Given the description of an element on the screen output the (x, y) to click on. 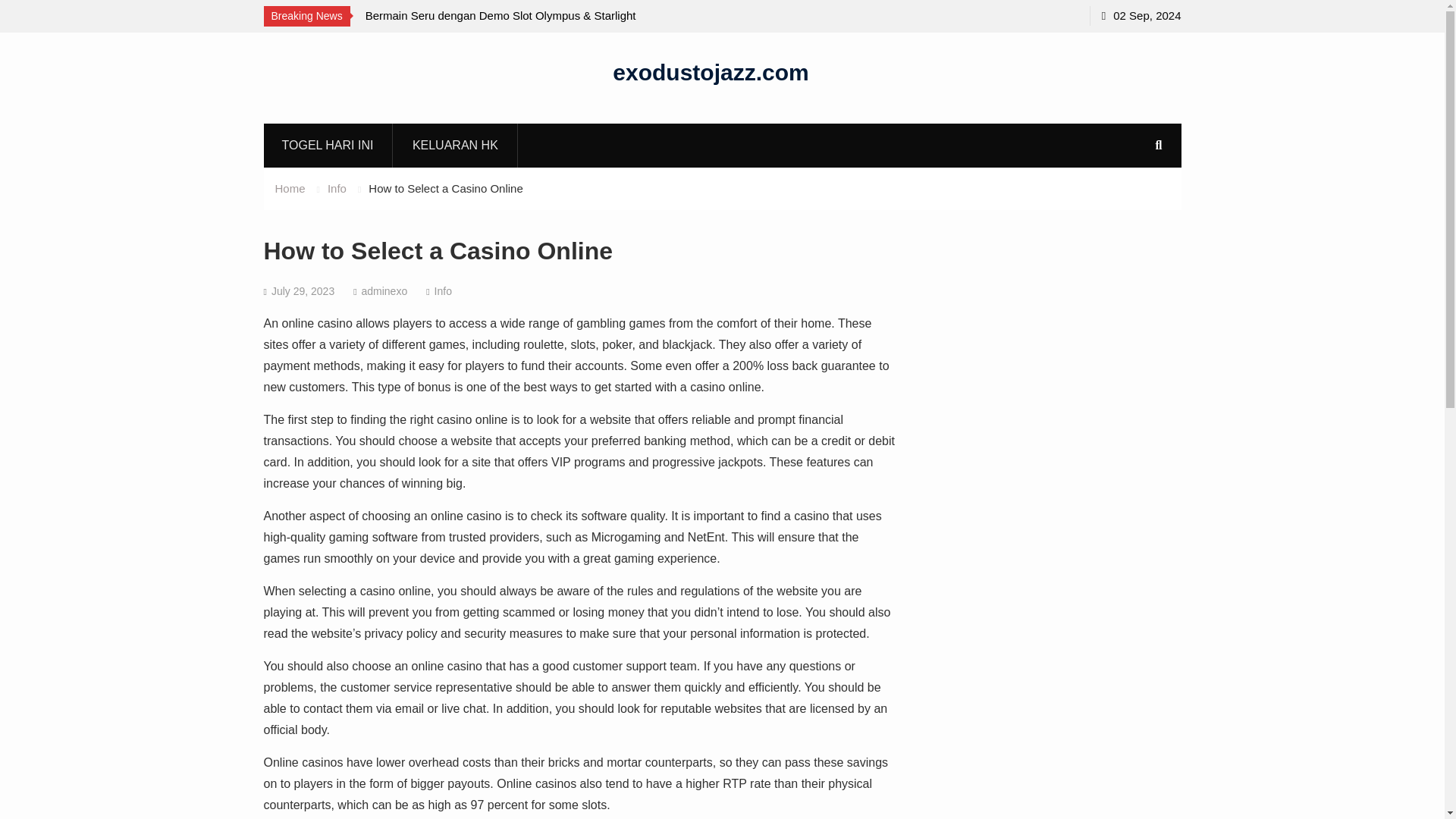
exodustojazz.com (710, 71)
TOGEL HARI INI (327, 144)
Info (442, 291)
Home (289, 187)
adminexo (384, 291)
July 29, 2023 (302, 291)
KELUARAN HK (455, 144)
Info (336, 187)
